Given the description of an element on the screen output the (x, y) to click on. 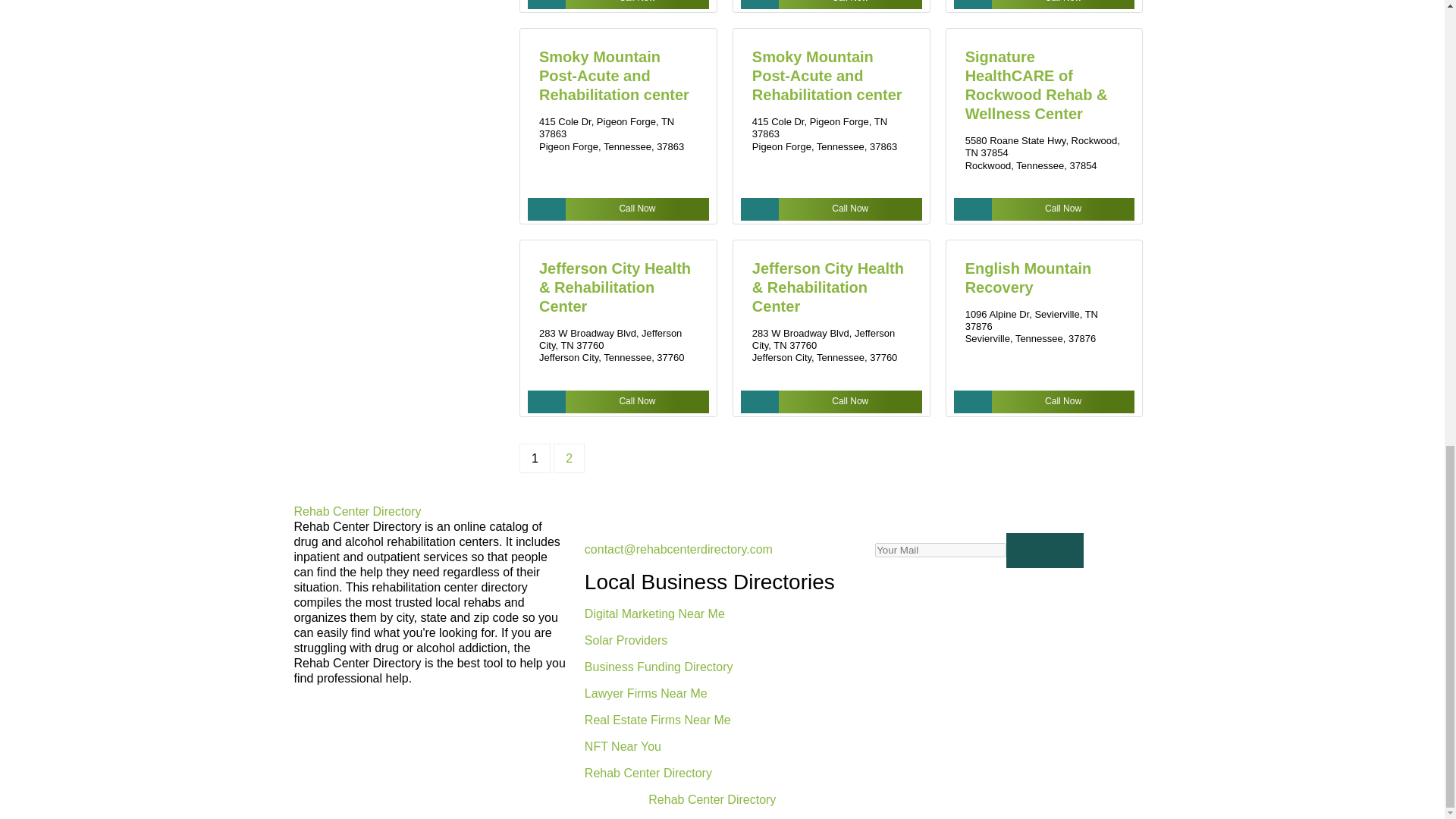
Call Now (618, 209)
English Mountain Recovery (1028, 277)
Call Now (831, 401)
Call Now (1044, 209)
Call Now (618, 401)
Call Now (831, 4)
Call Now (618, 4)
Solar Providers (625, 639)
Call Now (1044, 401)
Real Estate Firms Near Me (657, 719)
